Given the description of an element on the screen output the (x, y) to click on. 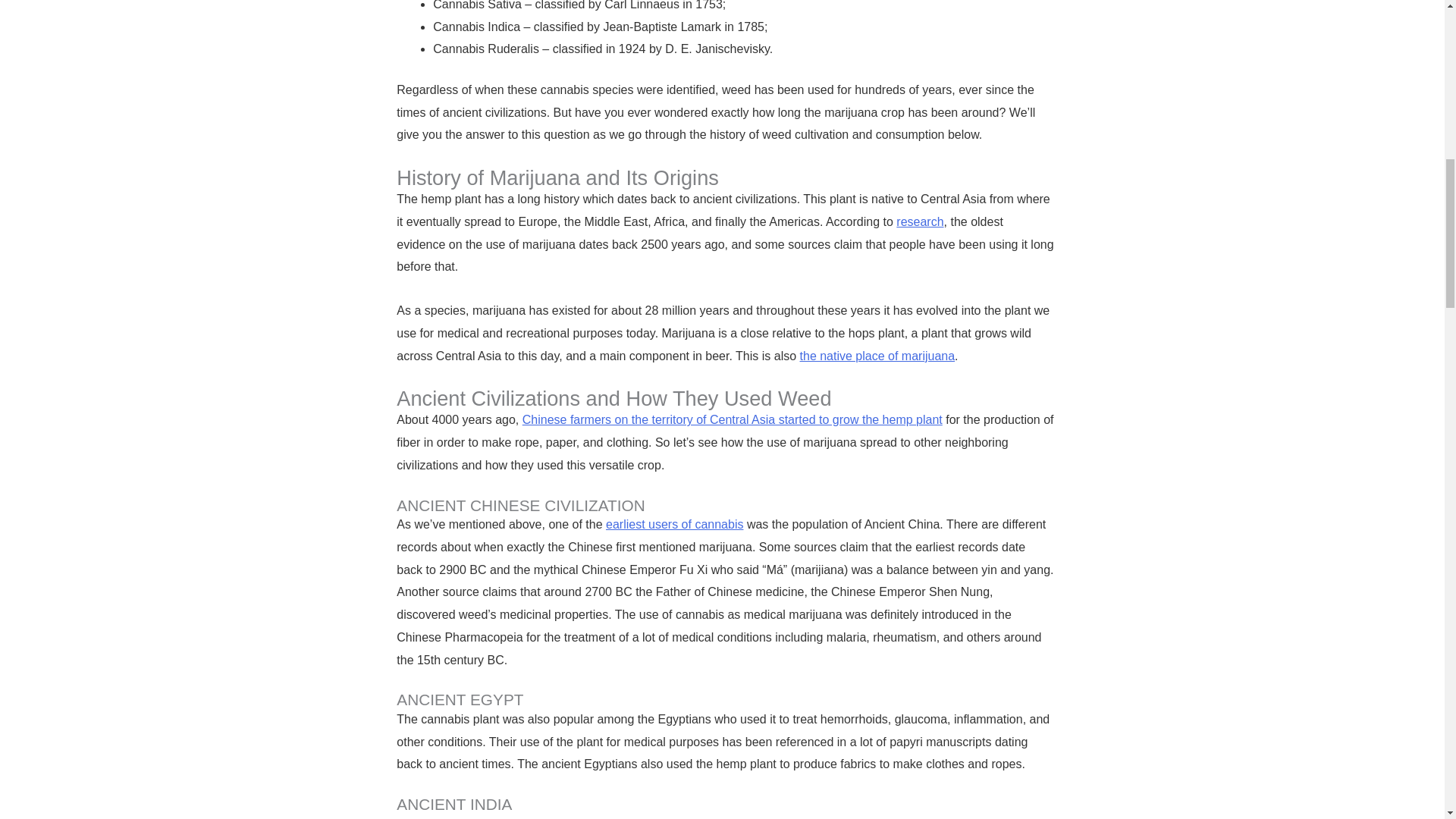
the native place of marijuana (877, 355)
earliest users of cannabis (673, 523)
research (919, 221)
